Given the description of an element on the screen output the (x, y) to click on. 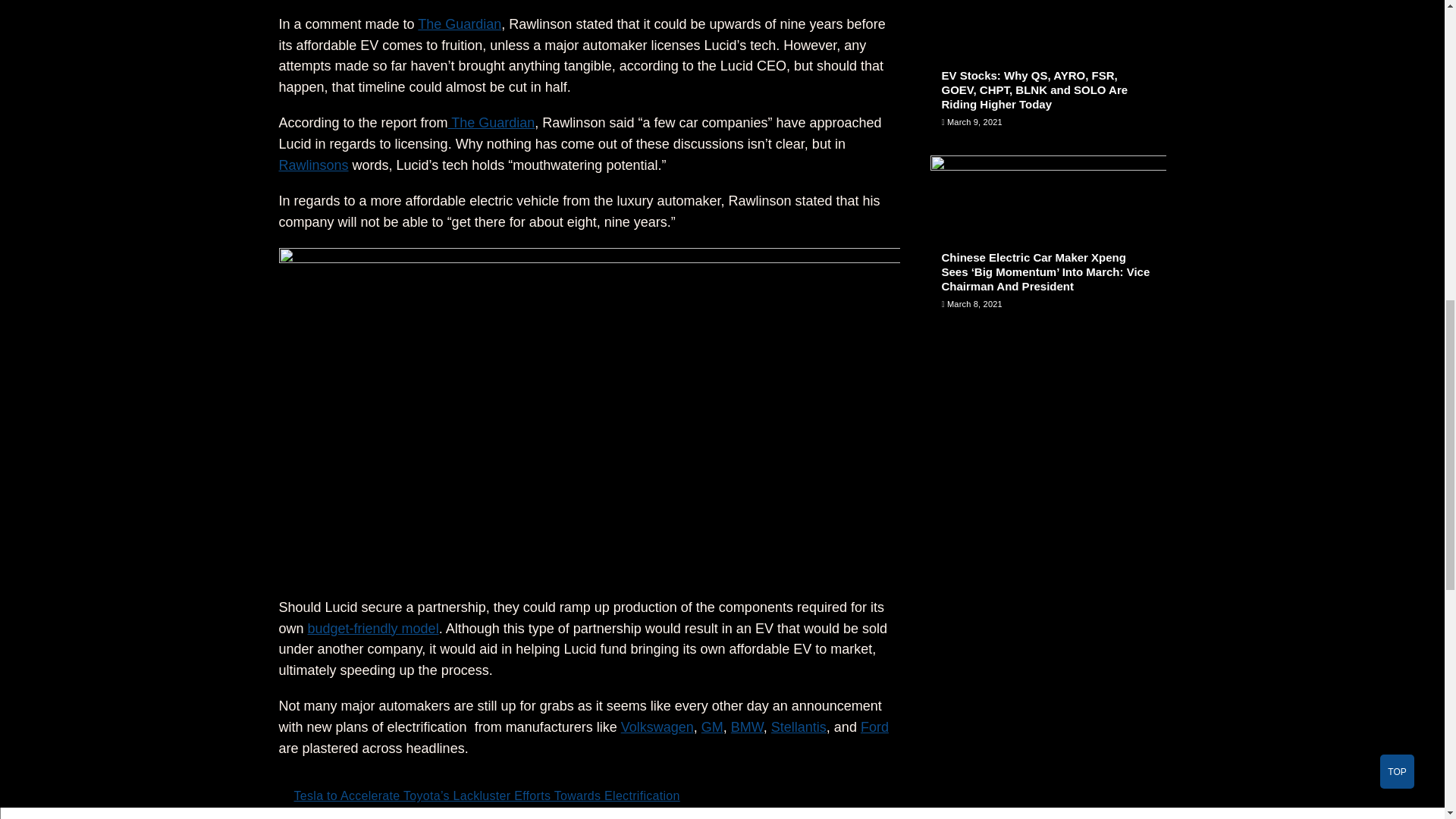
Ford (874, 726)
Stellantis (799, 726)
The Guardian (491, 122)
GM (712, 726)
budget-friendly model (373, 628)
Volkswagen (657, 726)
Rawlinsons (314, 165)
BMW (746, 726)
The Guardian (458, 23)
